Given the description of an element on the screen output the (x, y) to click on. 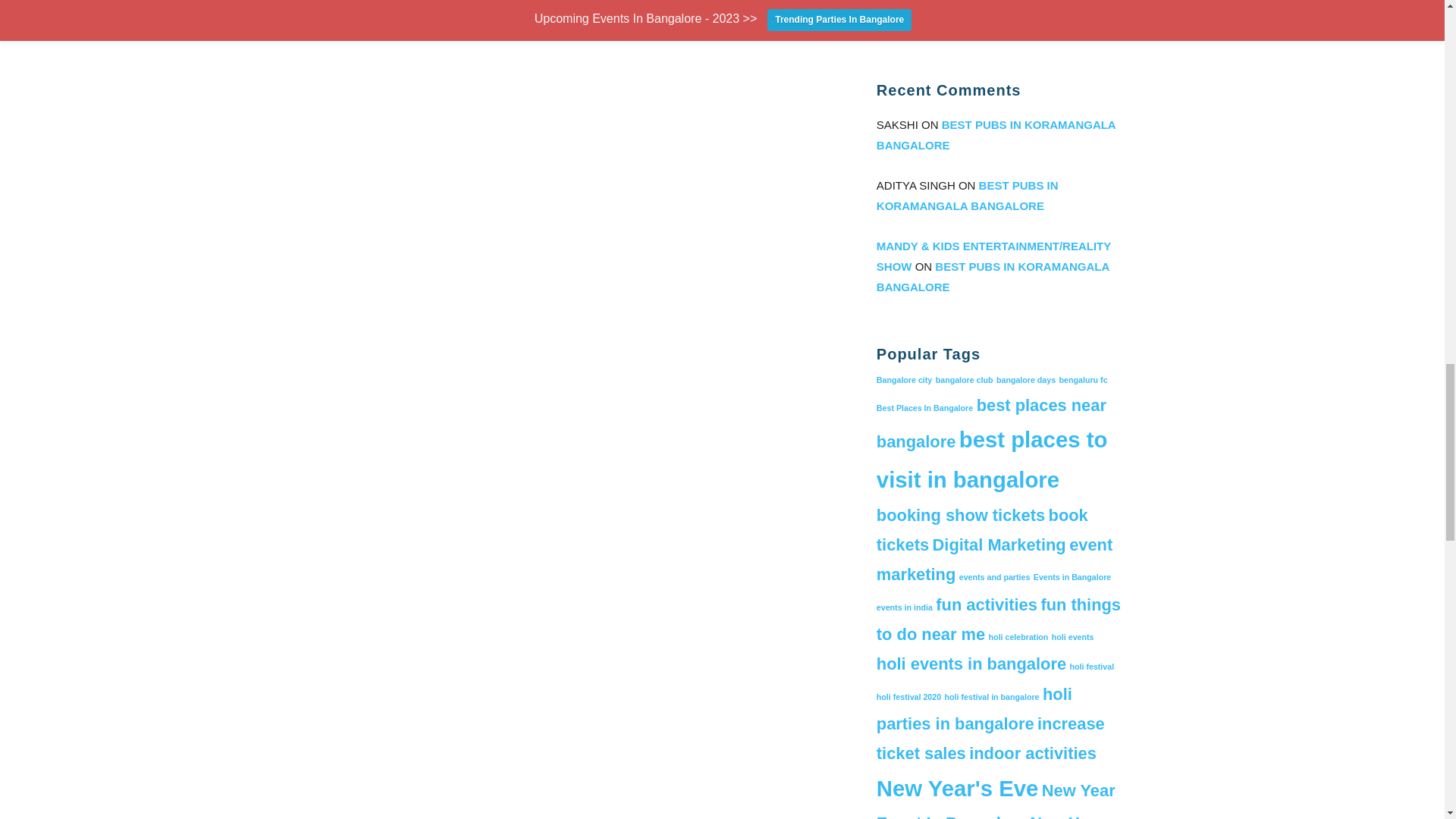
Bangalore city (903, 379)
All Events In Bangalore (943, 31)
BEST PUBS IN KORAMANGALA BANGALORE (992, 276)
bangalore days (1025, 379)
BEST PUBS IN KORAMANGALA BANGALORE (967, 195)
All Events In Bangalore (943, 31)
BEST PUBS IN KORAMANGALA BANGALORE (995, 134)
bangalore club (964, 379)
bengaluru fc (1083, 379)
